Given the description of an element on the screen output the (x, y) to click on. 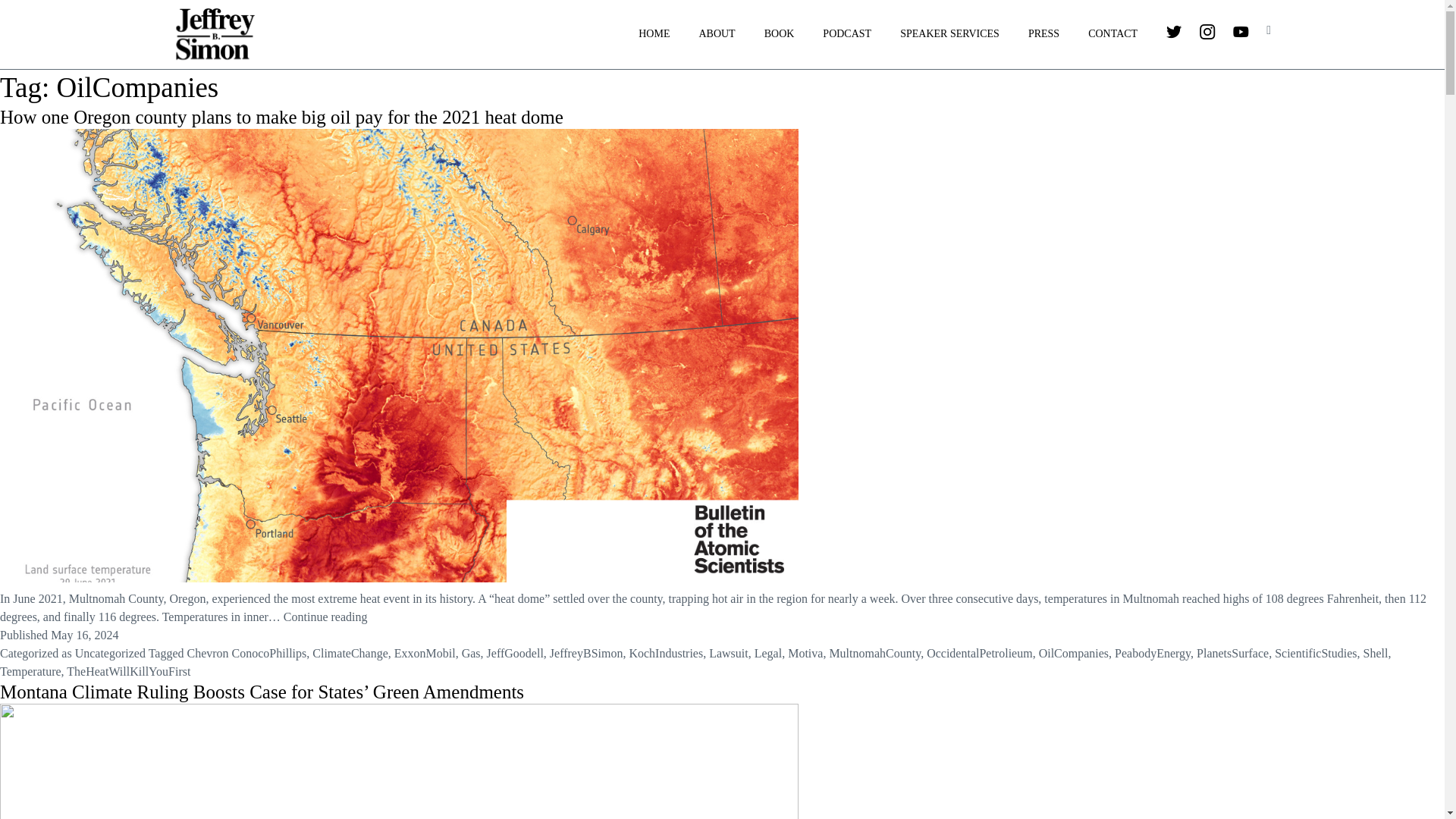
ABOUT (716, 33)
ScientificStudies (1315, 653)
JeffreyBSimon (586, 653)
OilCompanies (1073, 653)
HOME (654, 33)
Motiva (804, 653)
Chevron ConocoPhillips (245, 653)
BOOK (779, 33)
OccidentalPetrolieum (979, 653)
PlanetsSurface (1232, 653)
MultnomahCounty (874, 653)
PRESS (1043, 33)
Legal (767, 653)
